Given the description of an element on the screen output the (x, y) to click on. 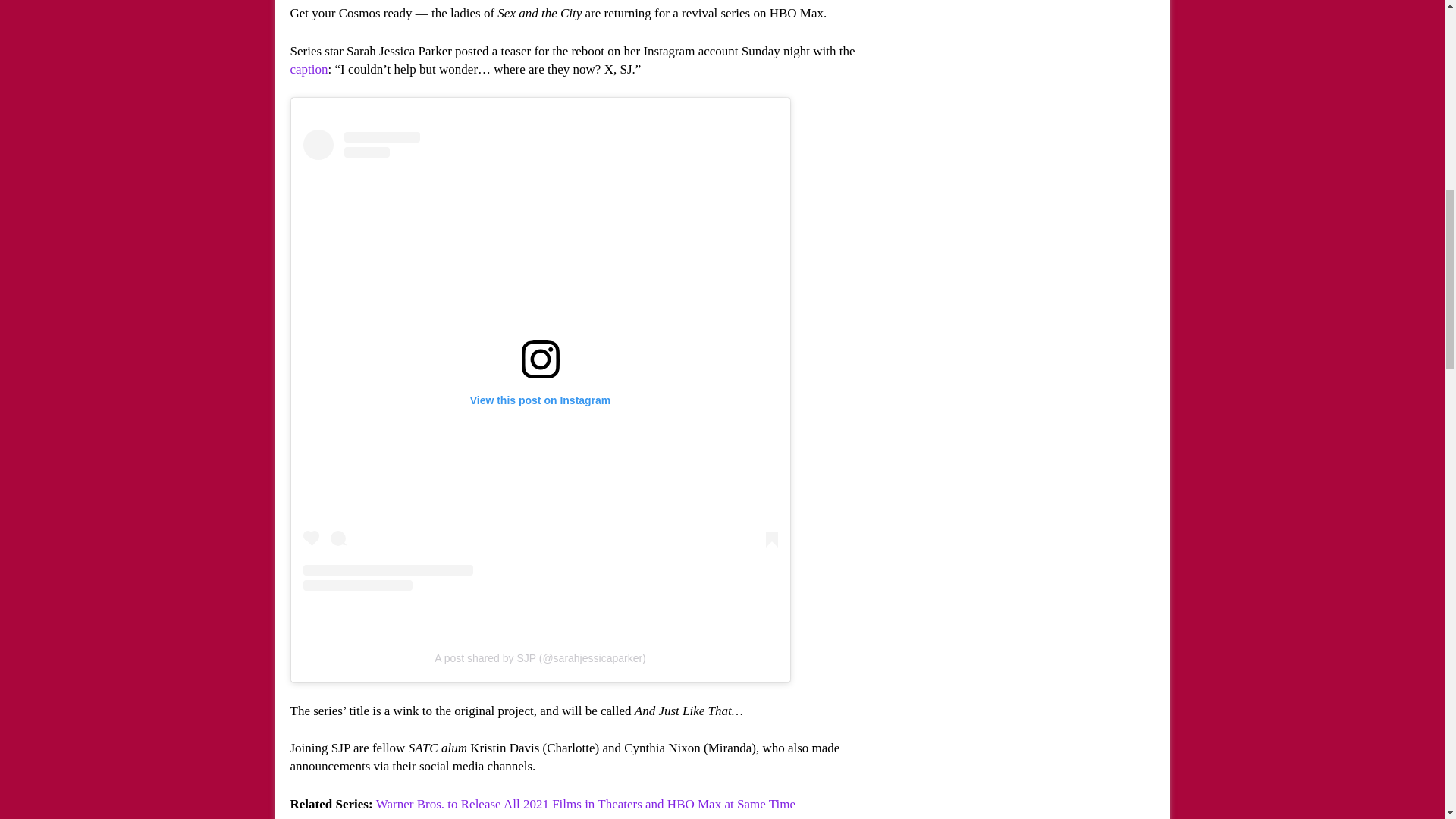
caption (308, 69)
